Given the description of an element on the screen output the (x, y) to click on. 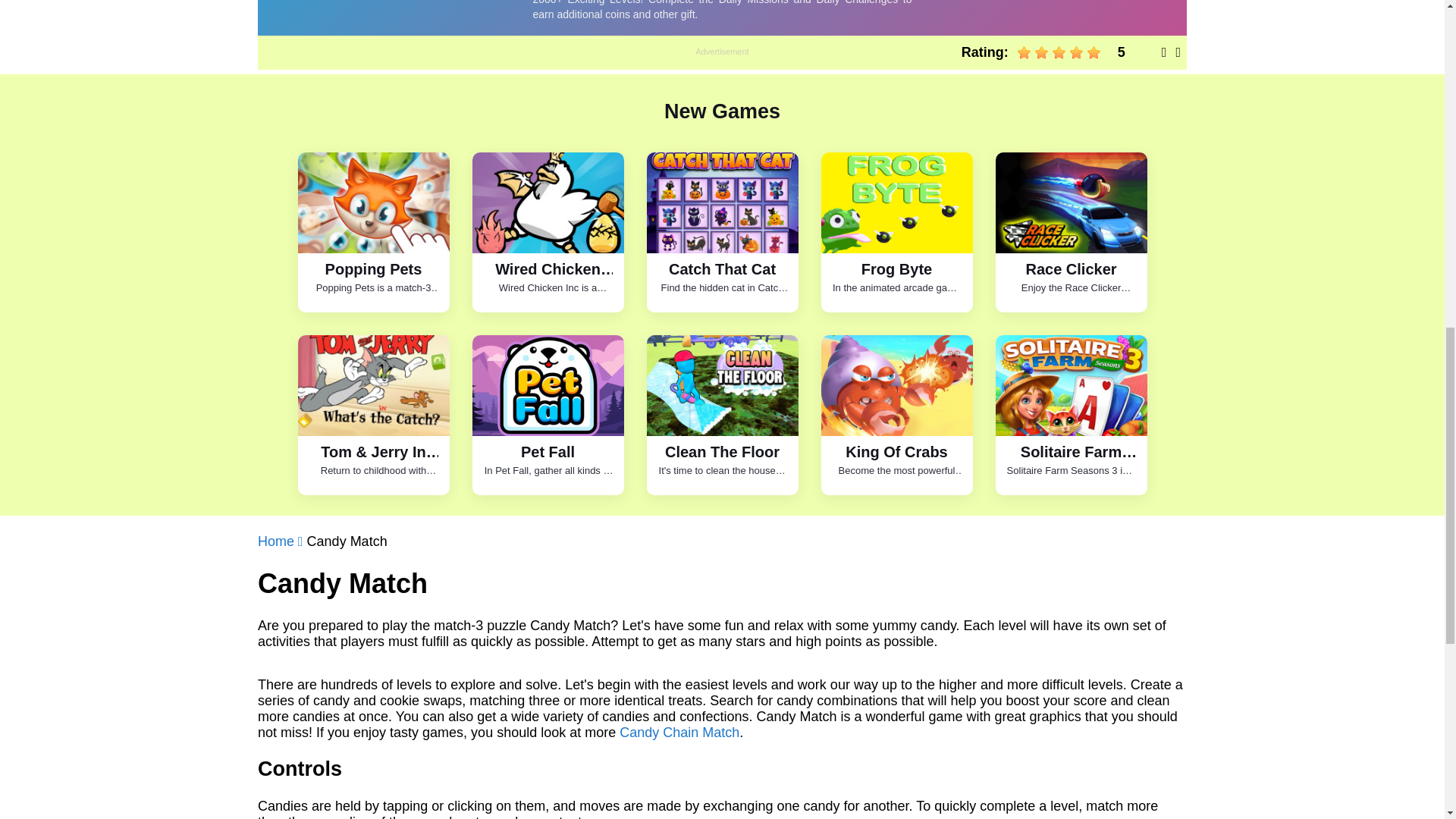
New Games (721, 110)
poor (1041, 51)
Home (282, 541)
regular (1058, 51)
gorgeous (1093, 51)
Candy Chain Match (679, 732)
